Given the description of an element on the screen output the (x, y) to click on. 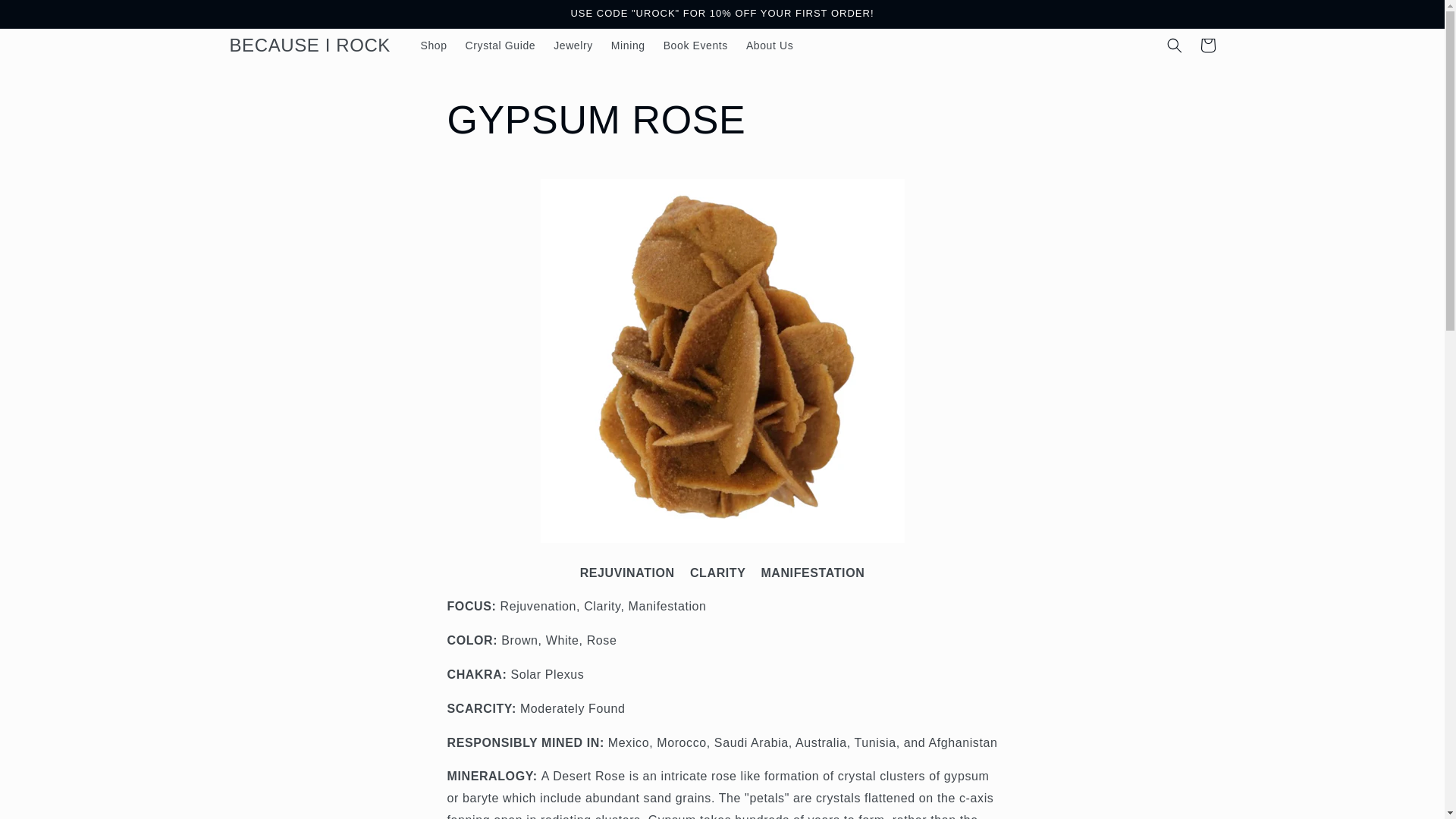
Mining (627, 45)
BECAUSE I ROCK (310, 44)
Shop (432, 45)
Skip to content (45, 17)
Cart (1207, 45)
Book Events (694, 45)
Jewelry (573, 45)
About Us (769, 45)
Crystal Guide (500, 45)
